Given the description of an element on the screen output the (x, y) to click on. 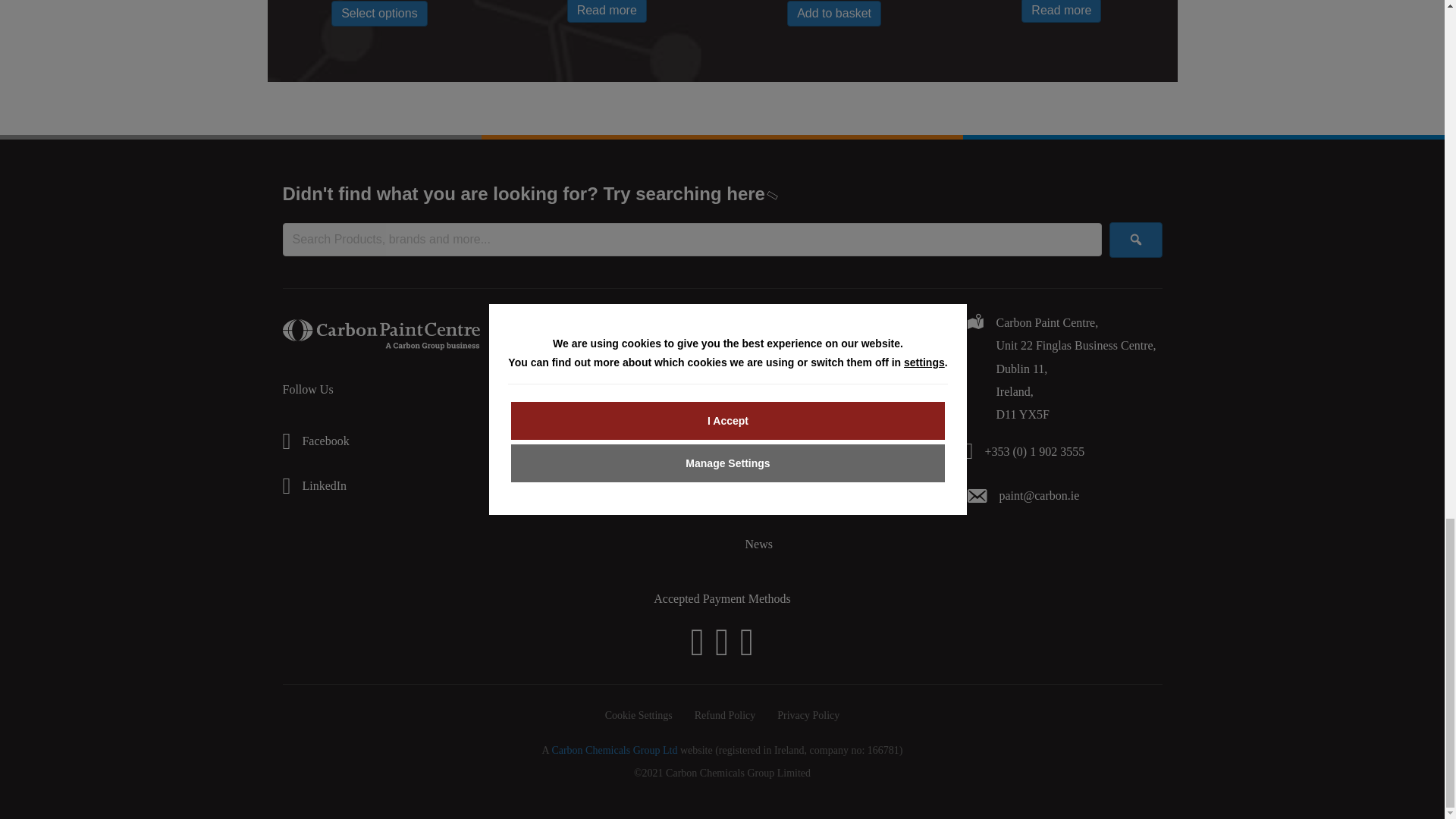
Carbon-Paint-Centre-logo-retina (380, 335)
